Given the description of an element on the screen output the (x, y) to click on. 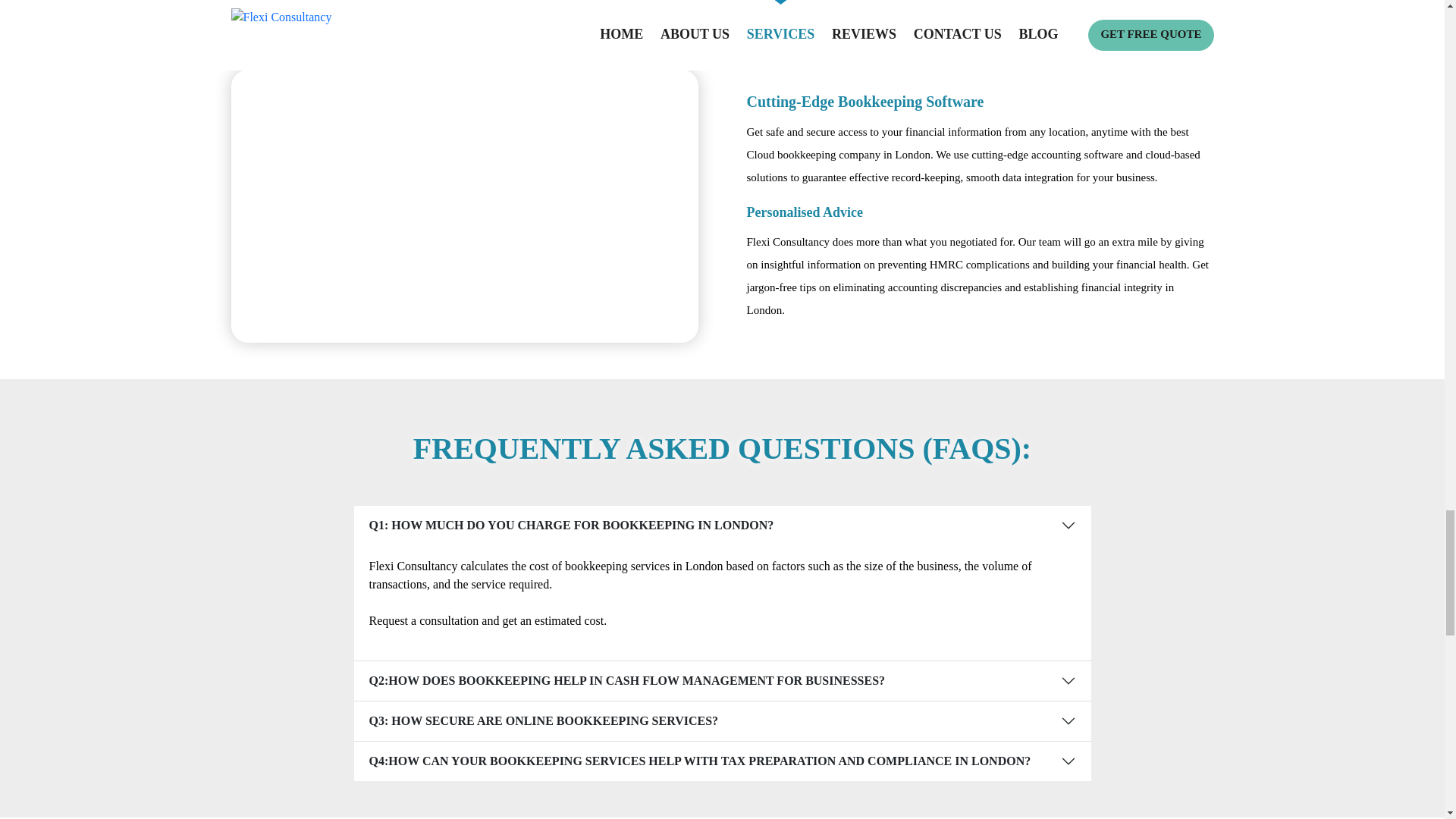
Q3: HOW SECURE ARE ONLINE BOOKKEEPING SERVICES? (721, 721)
Q1: HOW MUCH DO YOU CHARGE FOR BOOKKEEPING IN LONDON? (721, 525)
